Given the description of an element on the screen output the (x, y) to click on. 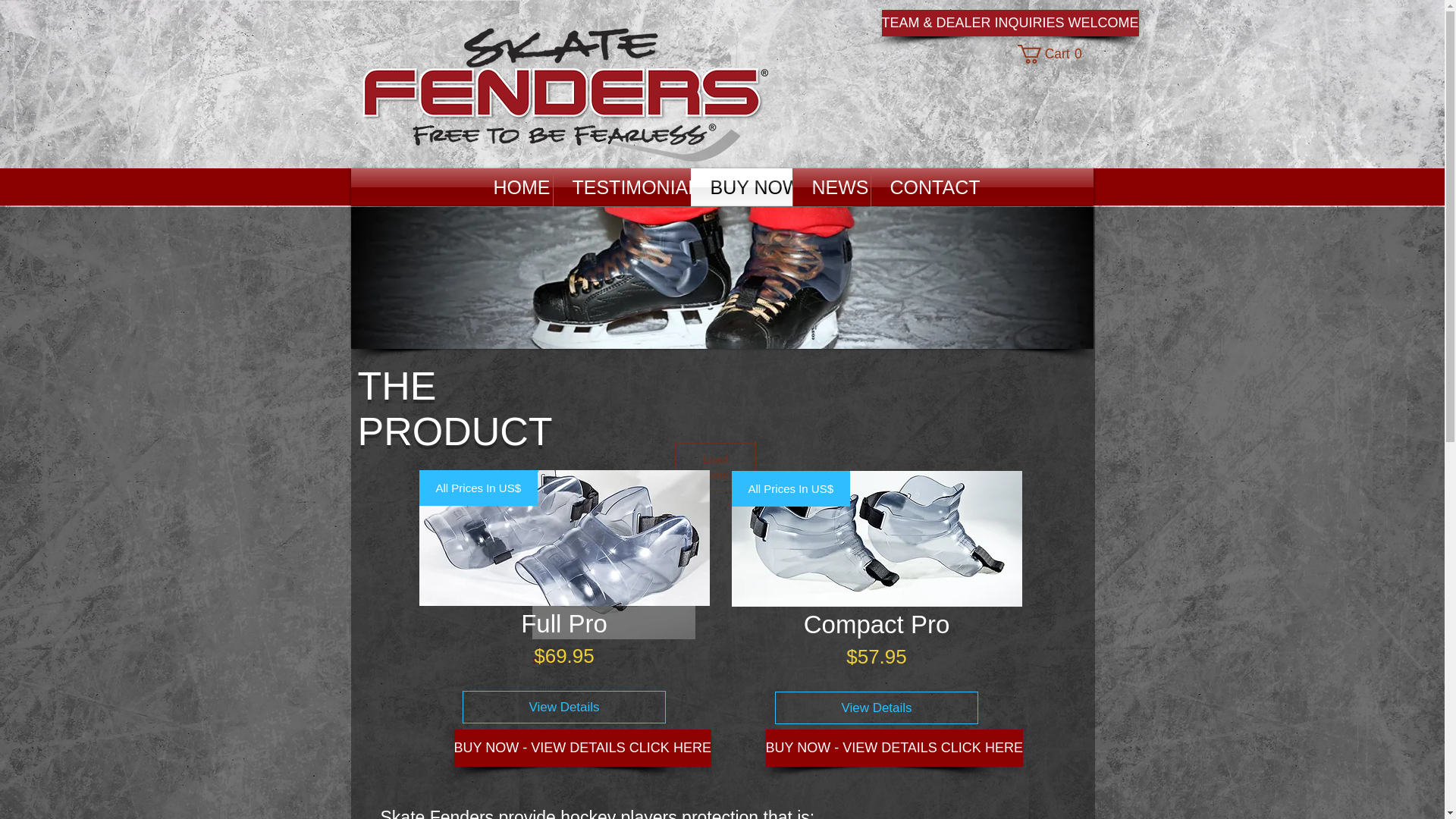
NEWS (831, 187)
Load Previous (715, 467)
CONTACT (1053, 54)
headers1.jpg (919, 187)
BUY NOW (721, 277)
View Details (741, 187)
BUY NOW - VIEW DETAILS CLICK HERE (876, 707)
HOME (894, 747)
View Details (513, 187)
